Given the description of an element on the screen output the (x, y) to click on. 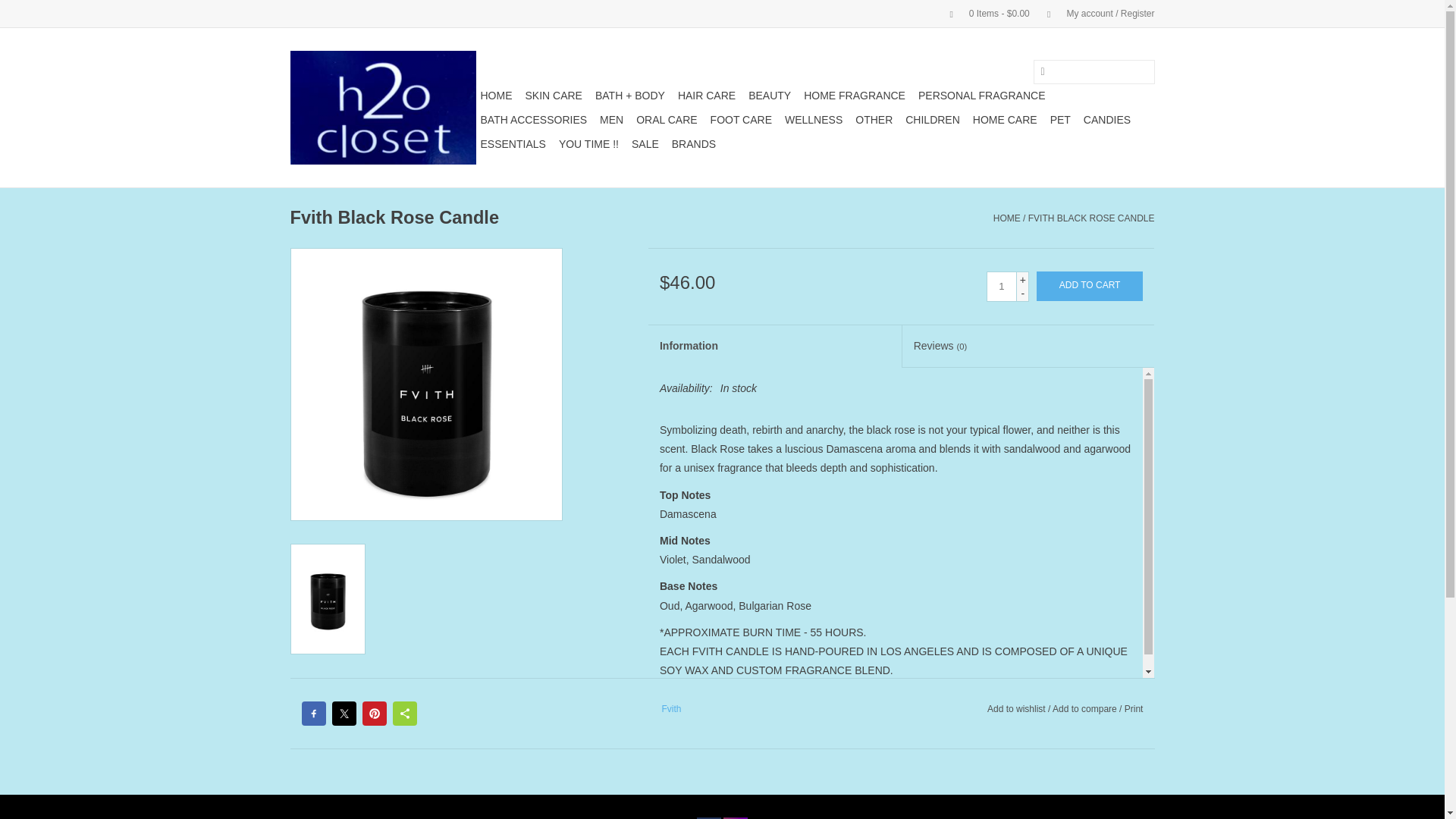
HAIR CARE (705, 95)
h2o closet (382, 107)
BATH ACCESSORIES (534, 119)
My account (1093, 13)
Skin Care (552, 95)
1 (1001, 286)
Cart (983, 13)
WELLNESS (813, 119)
ORAL CARE (666, 119)
BEAUTY (769, 95)
